Given the description of an element on the screen output the (x, y) to click on. 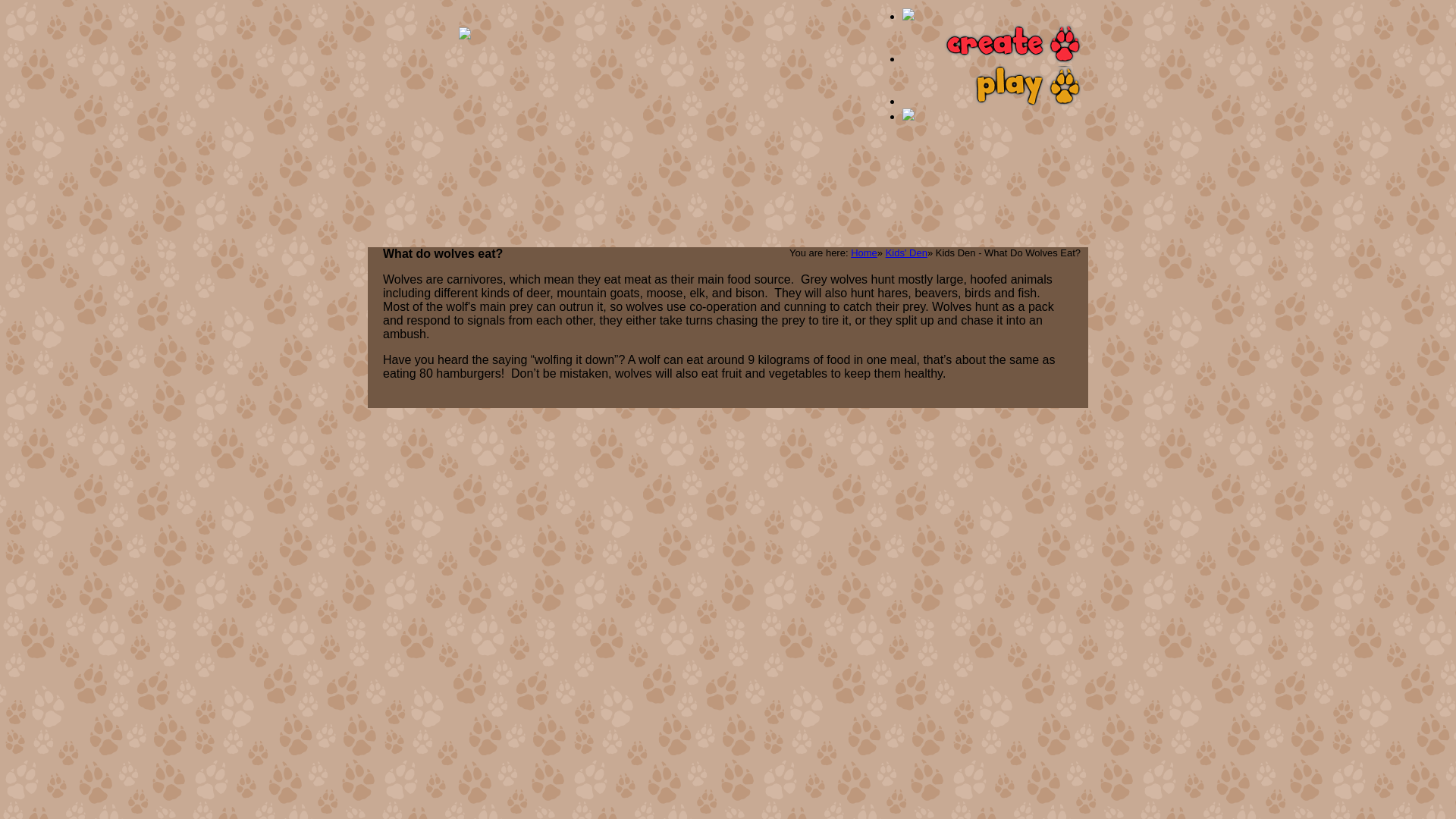
Kids' Den (906, 252)
Home (863, 252)
Home (863, 252)
Kids' Den (906, 252)
